Given the description of an element on the screen output the (x, y) to click on. 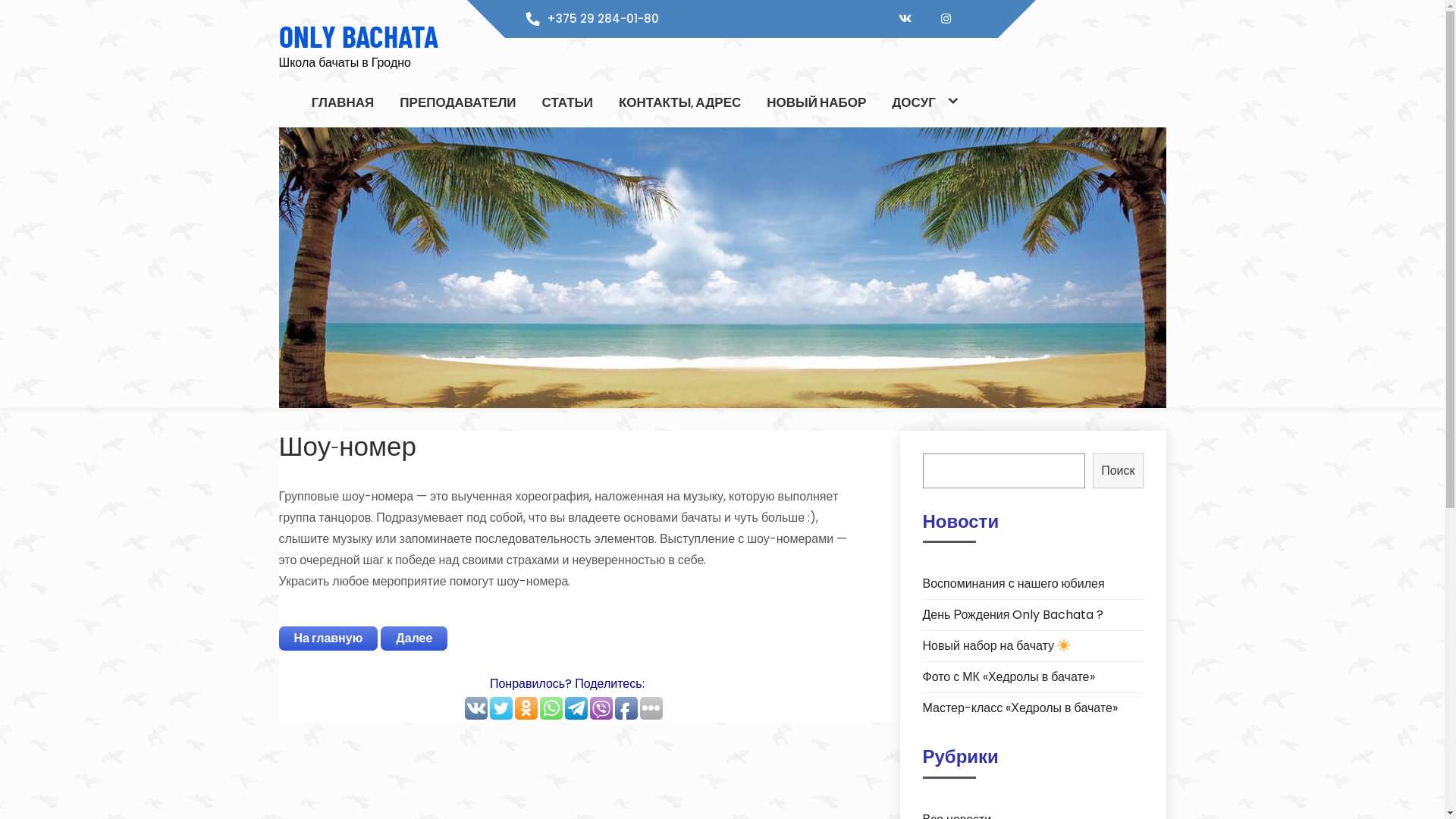
+375 29 284-01-80 Element type: text (602, 18)
ONLY BACHATA Element type: text (358, 35)
